Given the description of an element on the screen output the (x, y) to click on. 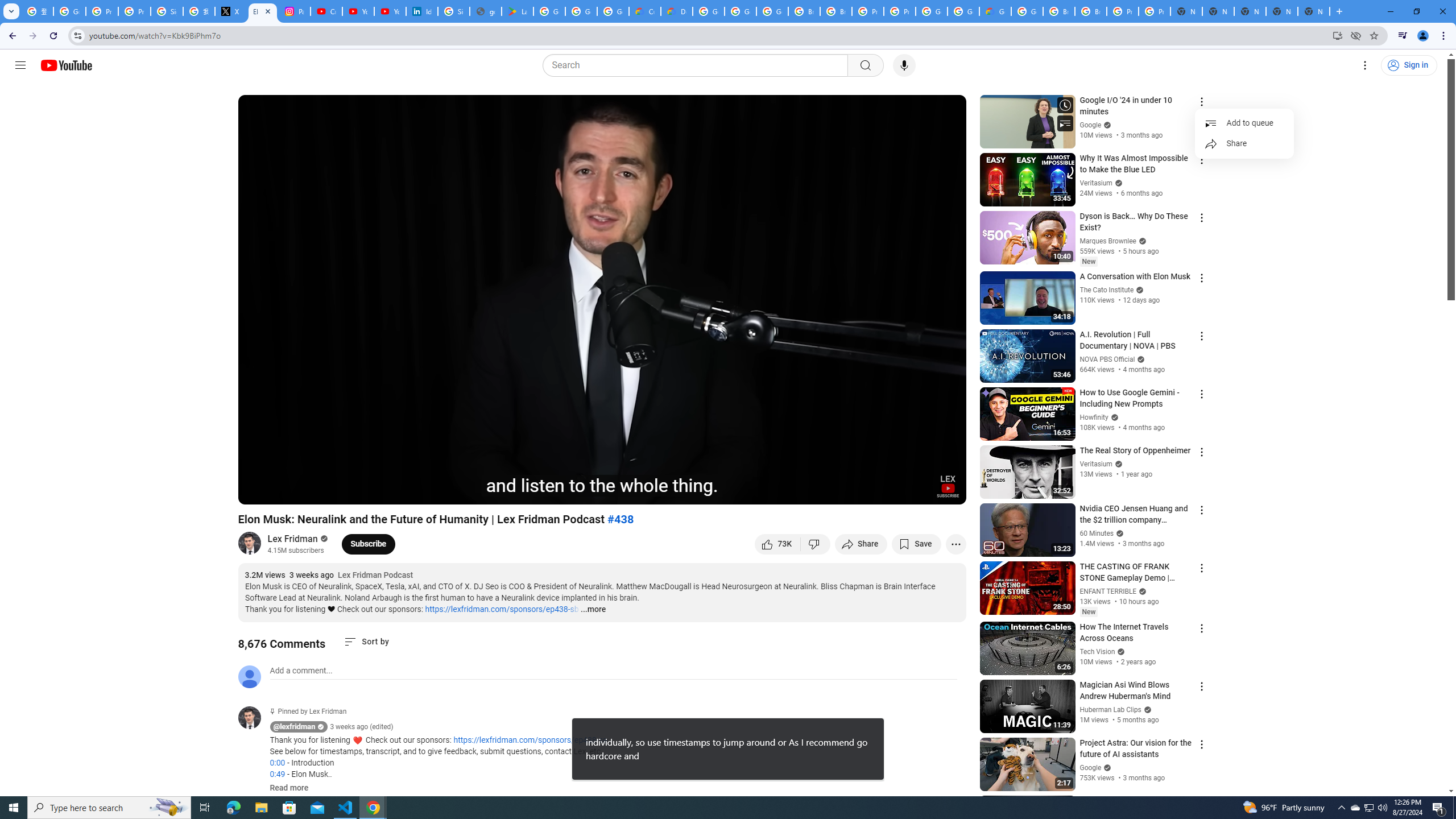
Sort comments (366, 641)
Browse Chrome as a guest - Computer - Google Chrome Help (1091, 11)
Miniplayer (i) (890, 490)
Settings (1365, 65)
Install YouTube (1336, 35)
@lexfridman (253, 717)
Control your music, videos, and more (1402, 35)
Theater mode (t) (917, 490)
Browse Chrome as a guest - Computer - Google Chrome Help (1059, 11)
Action menu (1200, 802)
Sign in - Google Accounts (453, 11)
More actions (955, 543)
Google Cloud Platform (708, 11)
